Given the description of an element on the screen output the (x, y) to click on. 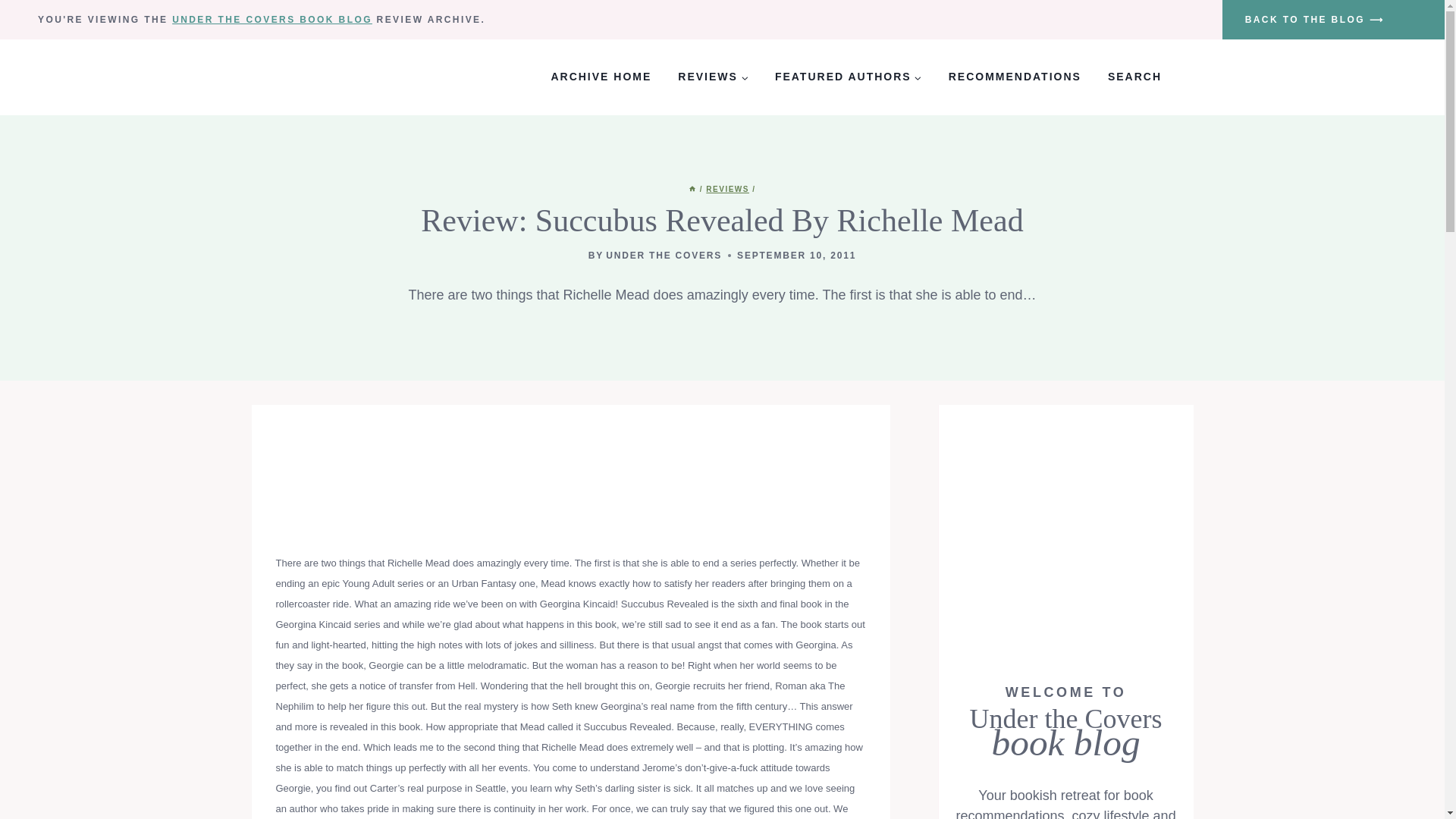
UNDER THE COVERS BOOK BLOG (271, 19)
REVIEWS (713, 77)
ARCHIVE HOME (601, 77)
UNDER THE COVERS (663, 255)
REVIEWS (727, 189)
SEARCH (1134, 77)
FEATURED AUTHORS (847, 77)
RECOMMENDATIONS (1014, 77)
Home (691, 189)
